Given the description of an element on the screen output the (x, y) to click on. 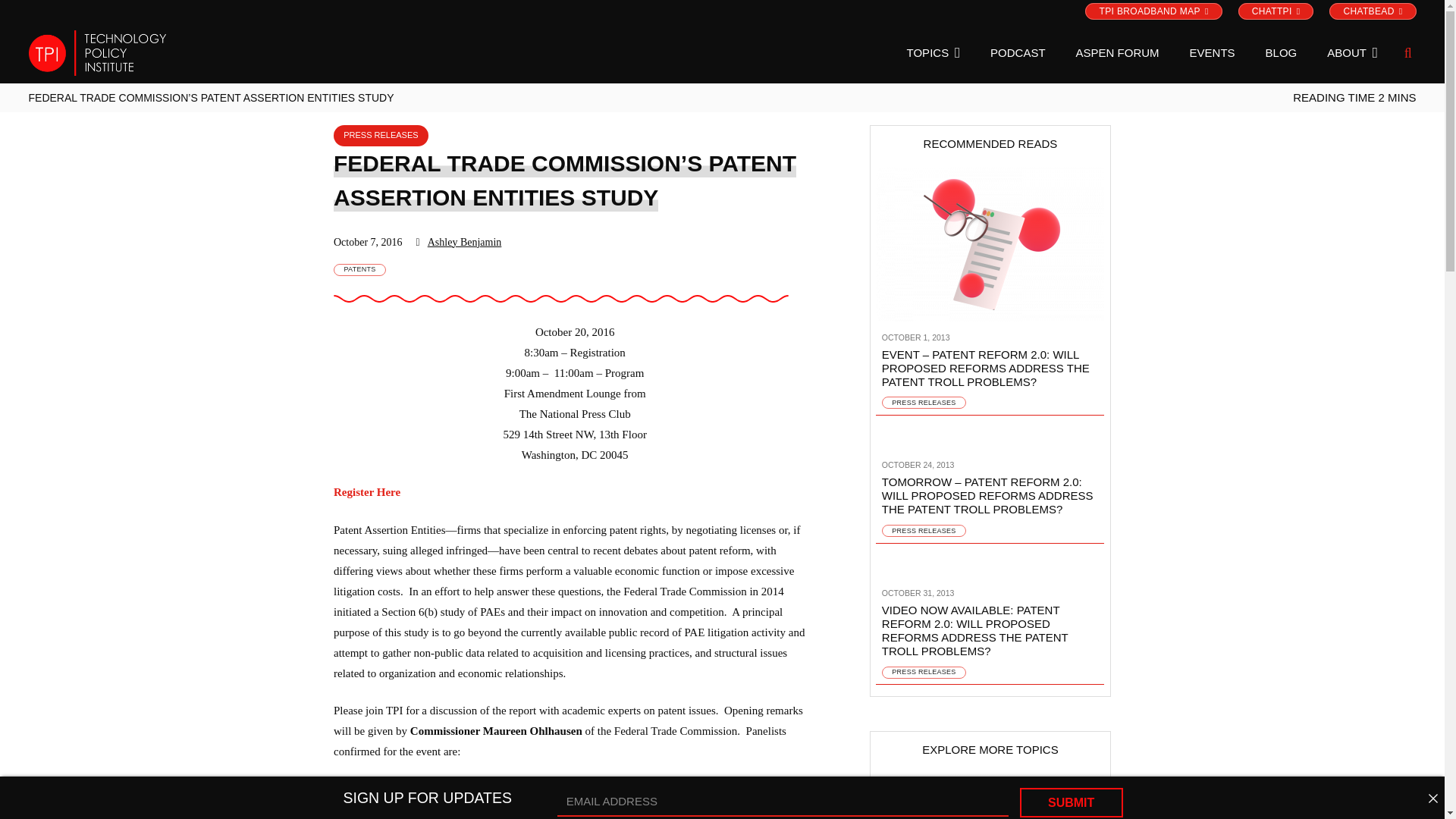
CHATTPI (1276, 11)
TPI BROADBAND MAP (1152, 11)
TOPICS (933, 52)
BLOG (1281, 52)
PODCAST (1018, 52)
ASPEN FORUM (1117, 52)
EVENTS (1212, 52)
CHATBEAD (1372, 11)
Submit (1071, 802)
ABOUT (1352, 52)
